Given the description of an element on the screen output the (x, y) to click on. 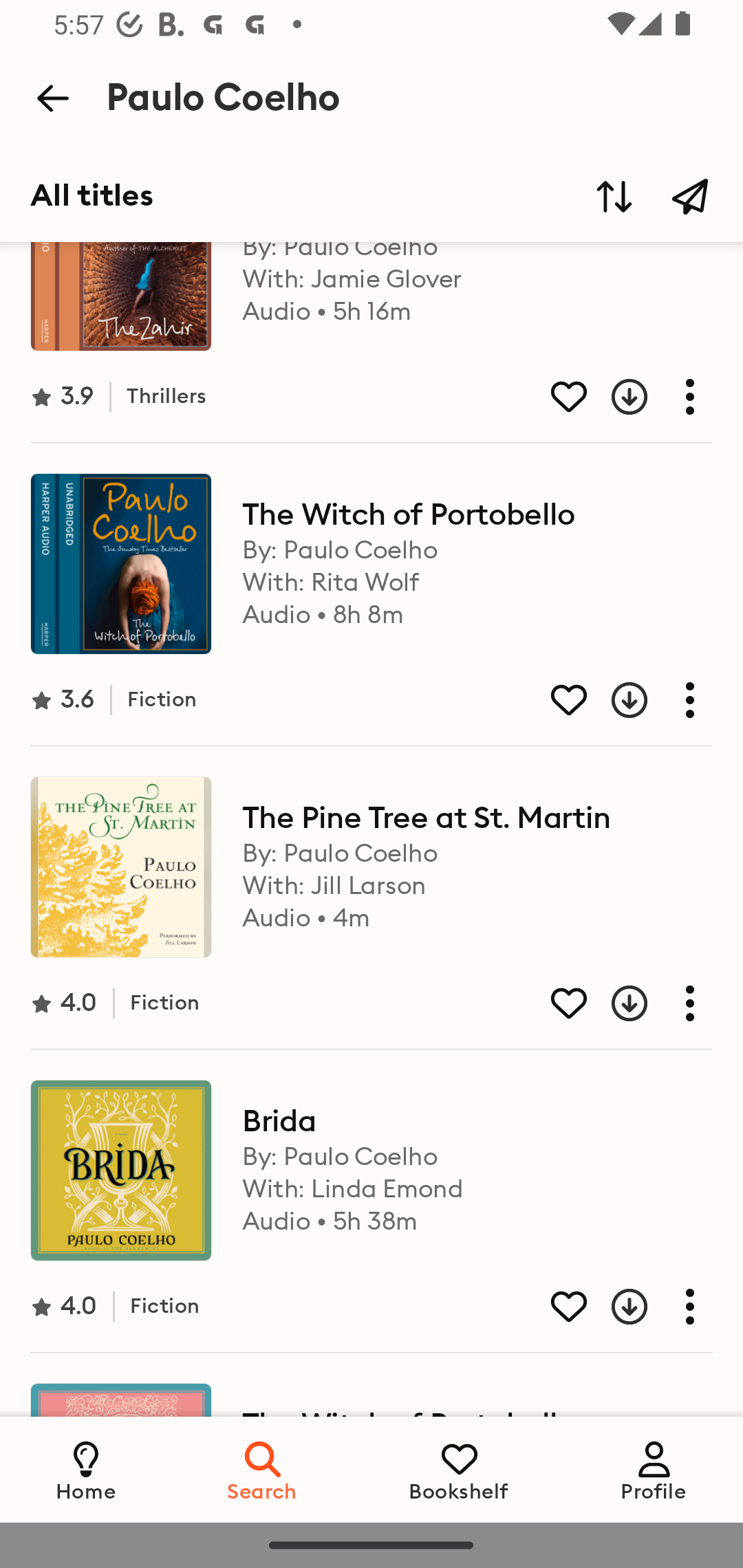
Back (52, 98)
Download (613, 396)
Download (613, 699)
Download (613, 1003)
Download (613, 1305)
Home (85, 1468)
Search (262, 1468)
Bookshelf (458, 1468)
Profile (653, 1468)
